Given the description of an element on the screen output the (x, y) to click on. 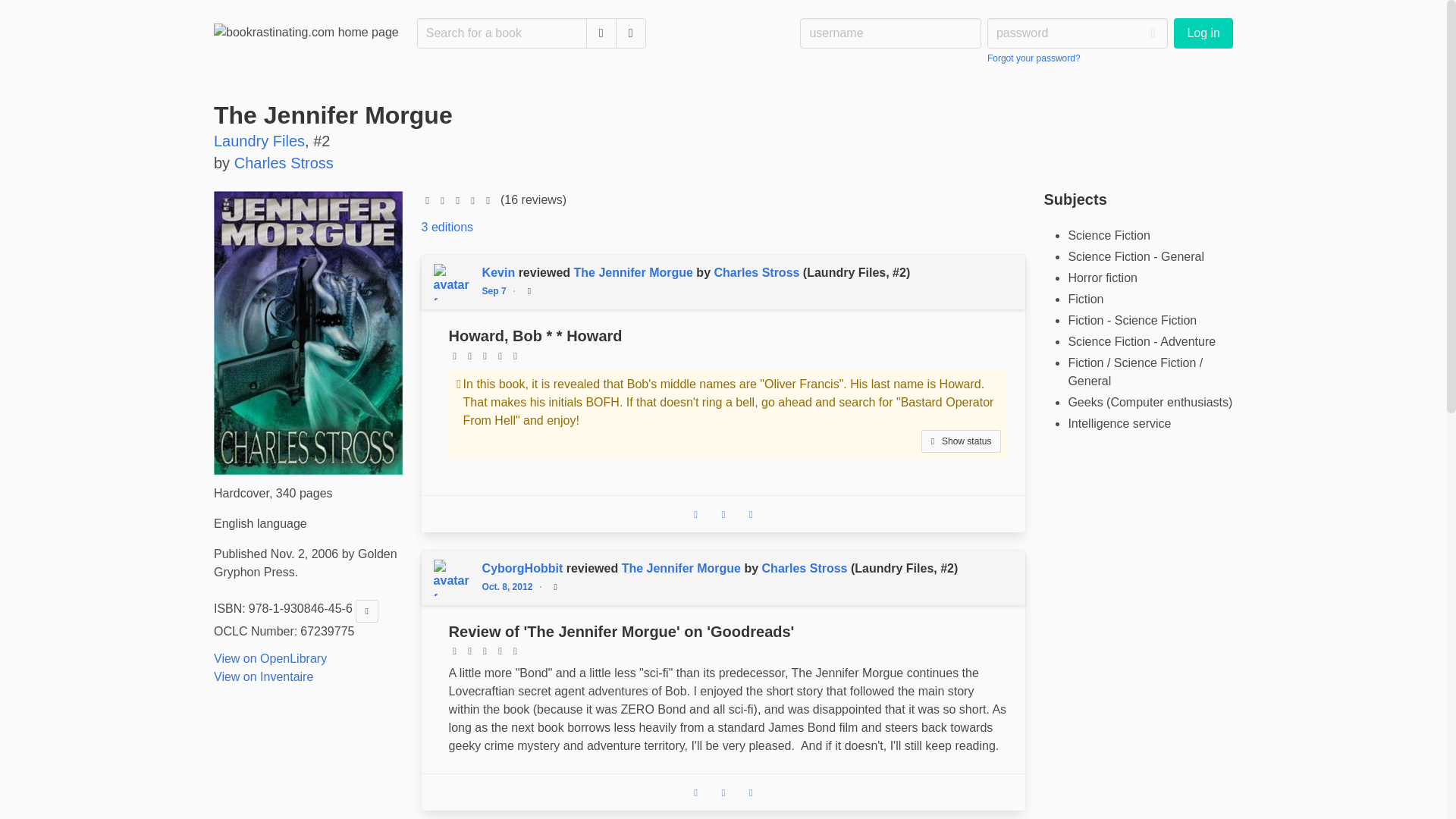
CyborgHobbit (523, 567)
Search (723, 514)
Copy ISBN (601, 33)
Like status (366, 611)
Laundry Files (750, 513)
Log in (259, 140)
Public (1203, 33)
Boost status (528, 290)
Reply (723, 513)
Oct. 8, 2012 (695, 513)
3 editions (510, 585)
Reply (448, 226)
Boost status (695, 793)
Sep 7 (723, 793)
